Given the description of an element on the screen output the (x, y) to click on. 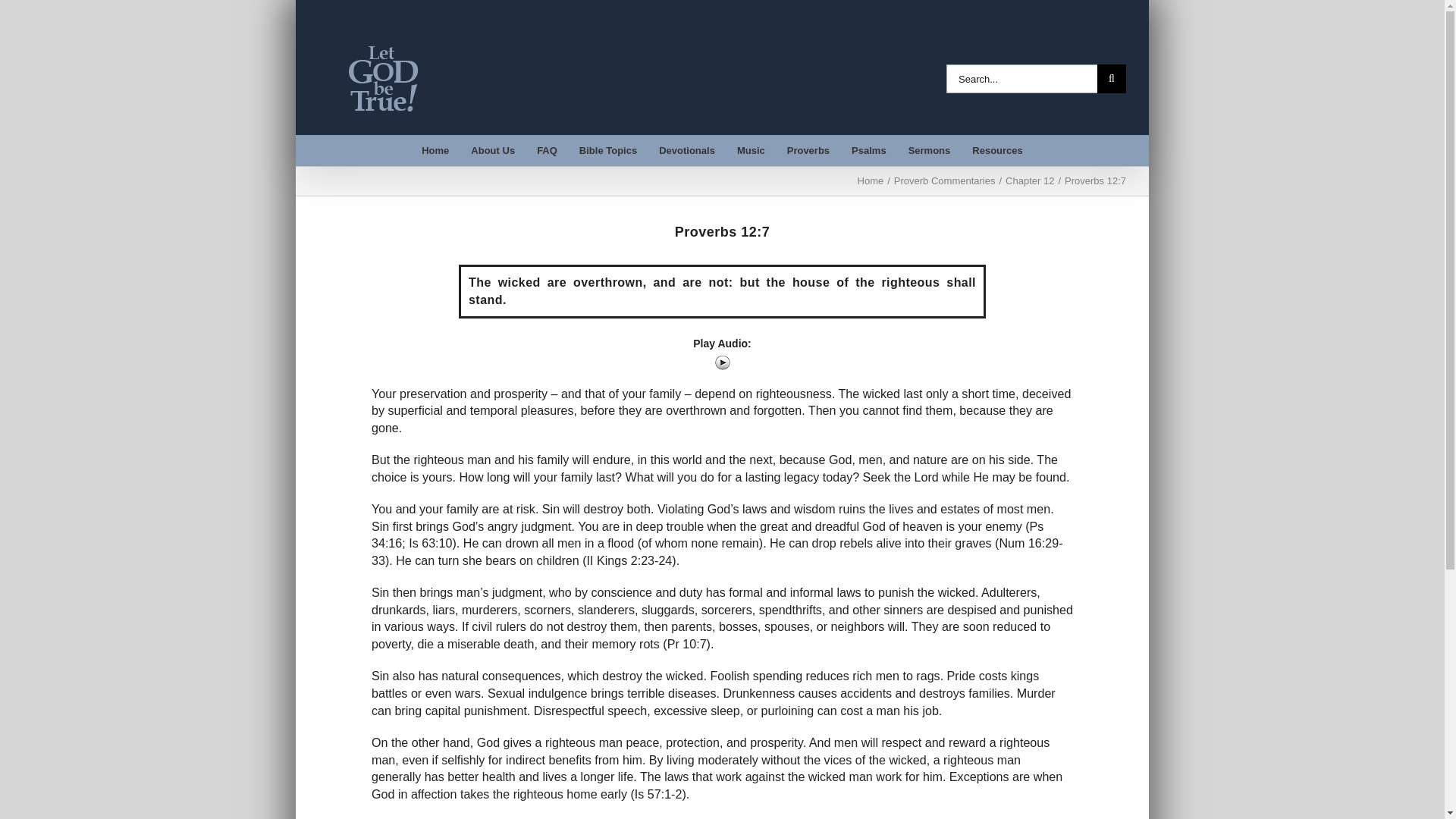
Devotionals (686, 150)
FAQ (547, 150)
Music (750, 150)
About Us (492, 150)
Bible Topics (607, 150)
Proverbs (808, 150)
Psalms (869, 150)
Home (435, 150)
